Given the description of an element on the screen output the (x, y) to click on. 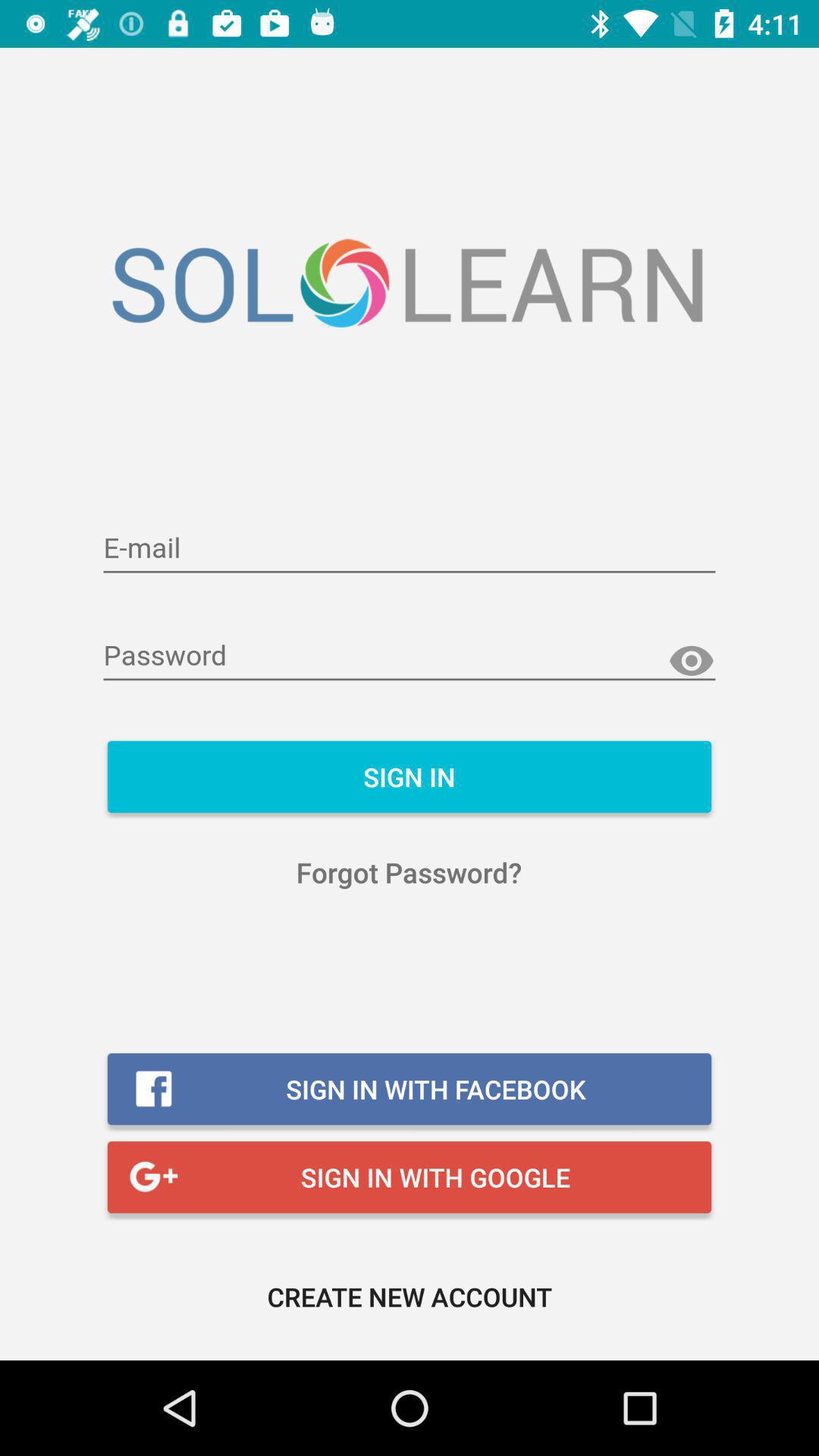
a text entry box to type an email address (409, 548)
